Given the description of an element on the screen output the (x, y) to click on. 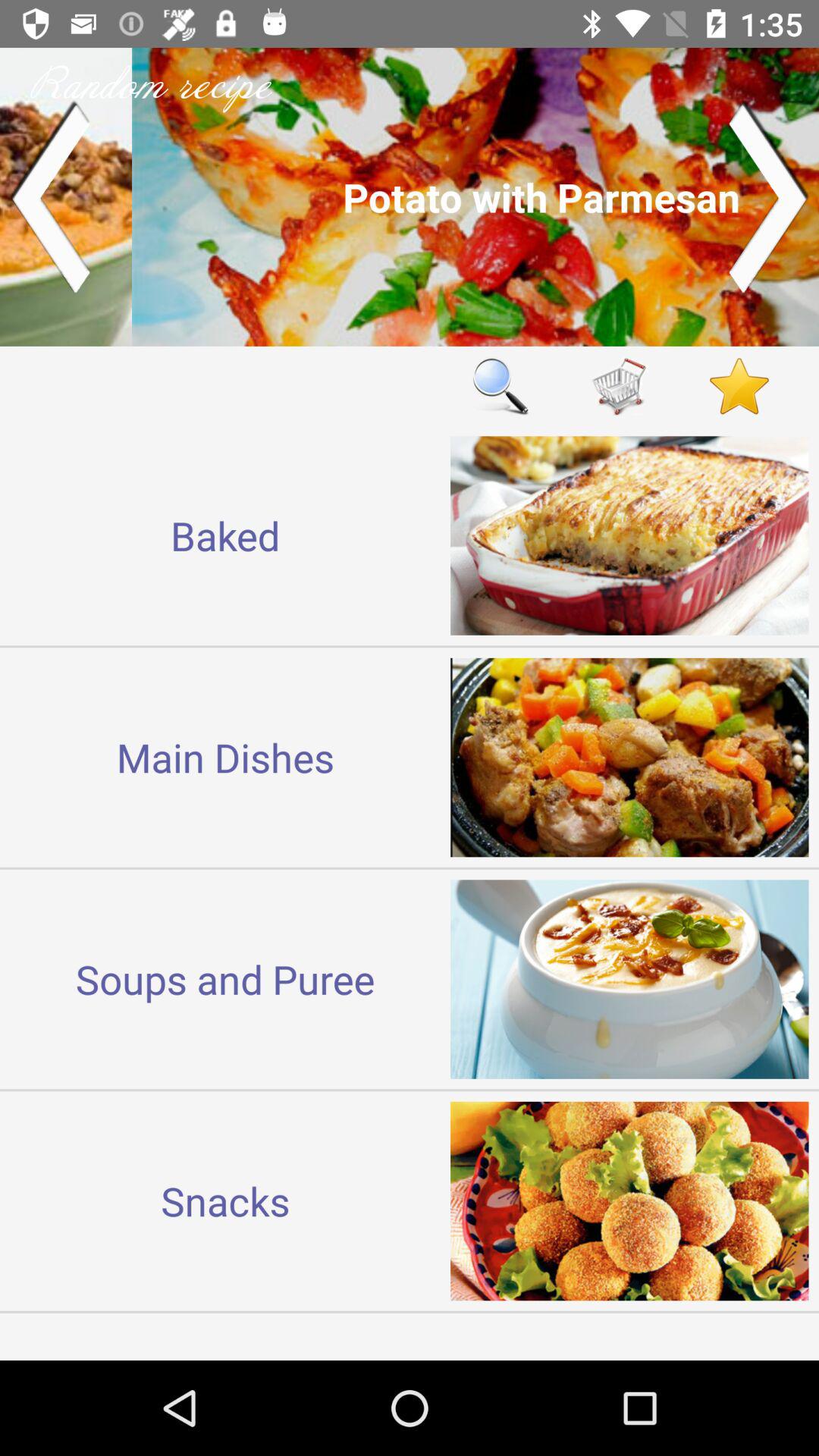
tap the icon below main dishes (225, 978)
